Given the description of an element on the screen output the (x, y) to click on. 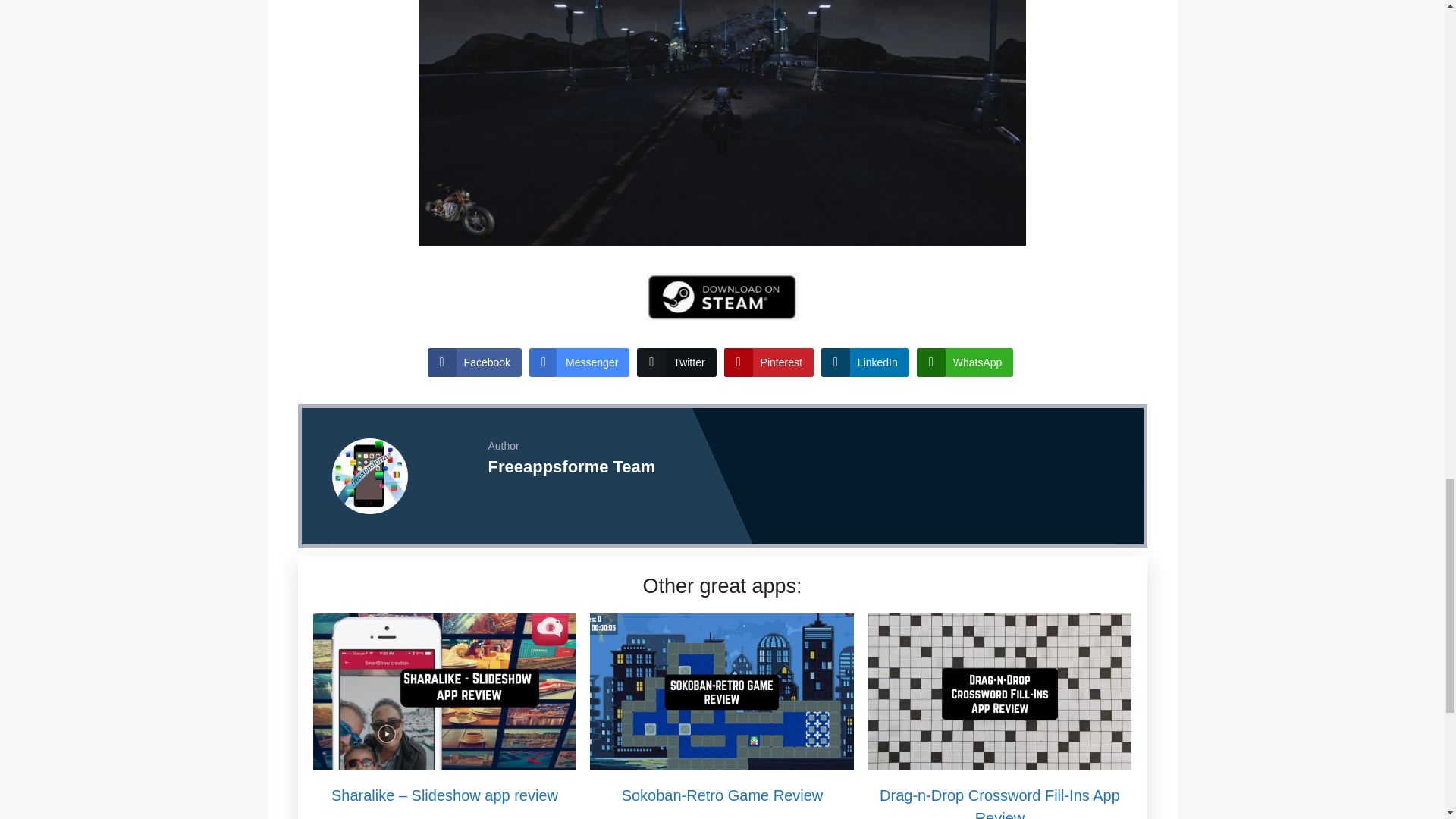
Drag-n-Drop Crossword Fill-Ins App Review (999, 803)
Facebook (474, 362)
LinkedIn (864, 362)
Sokoban-Retro Game Review (721, 759)
Twitter (676, 362)
WhatsApp (965, 362)
Sokoban-Retro Game Review (722, 795)
Drag-n-Drop Crossword Fill-Ins App Review (999, 759)
Messenger (578, 362)
Pinterest (768, 362)
